Given the description of an element on the screen output the (x, y) to click on. 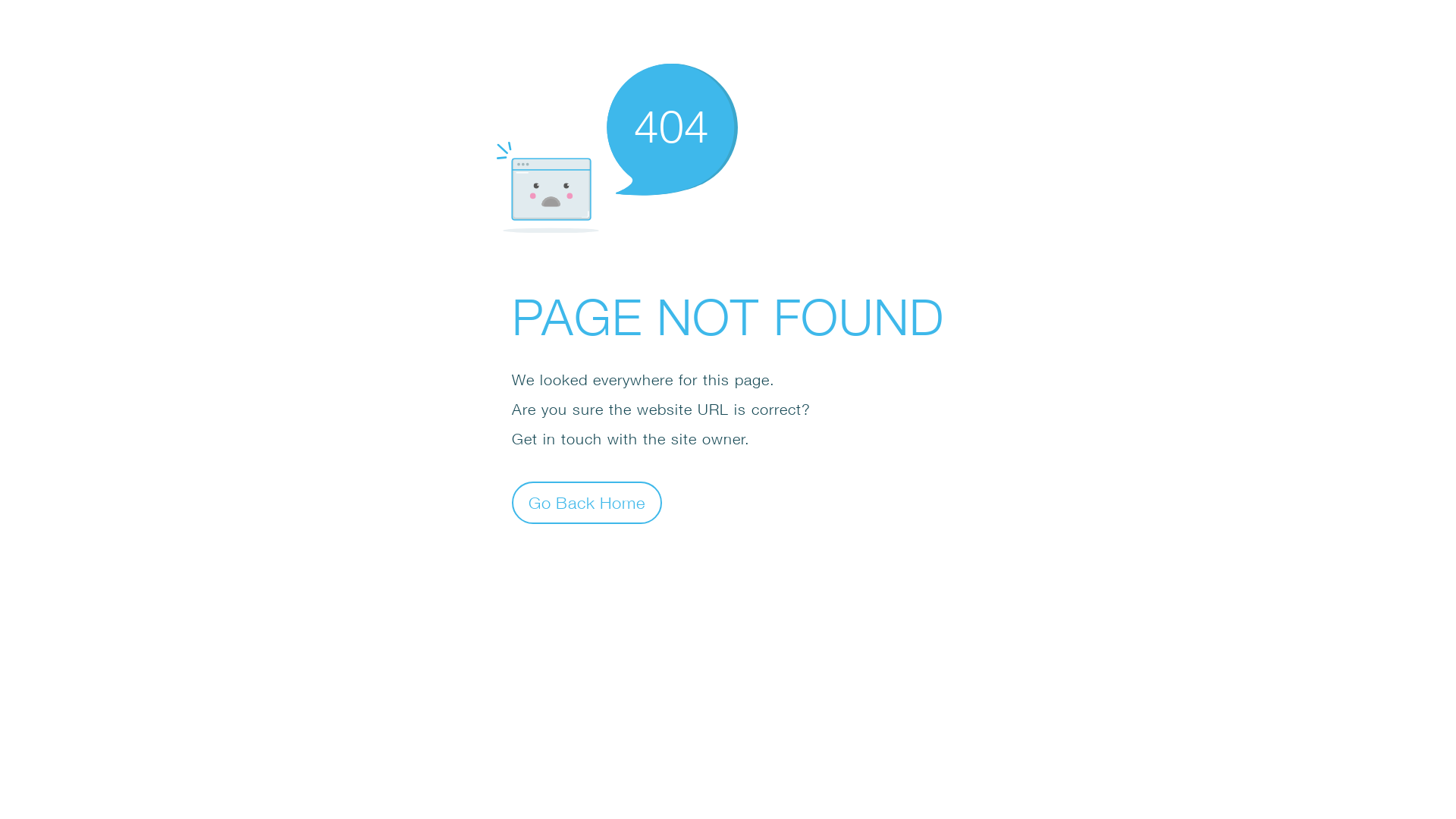
Go Back Home Element type: text (586, 502)
